Given the description of an element on the screen output the (x, y) to click on. 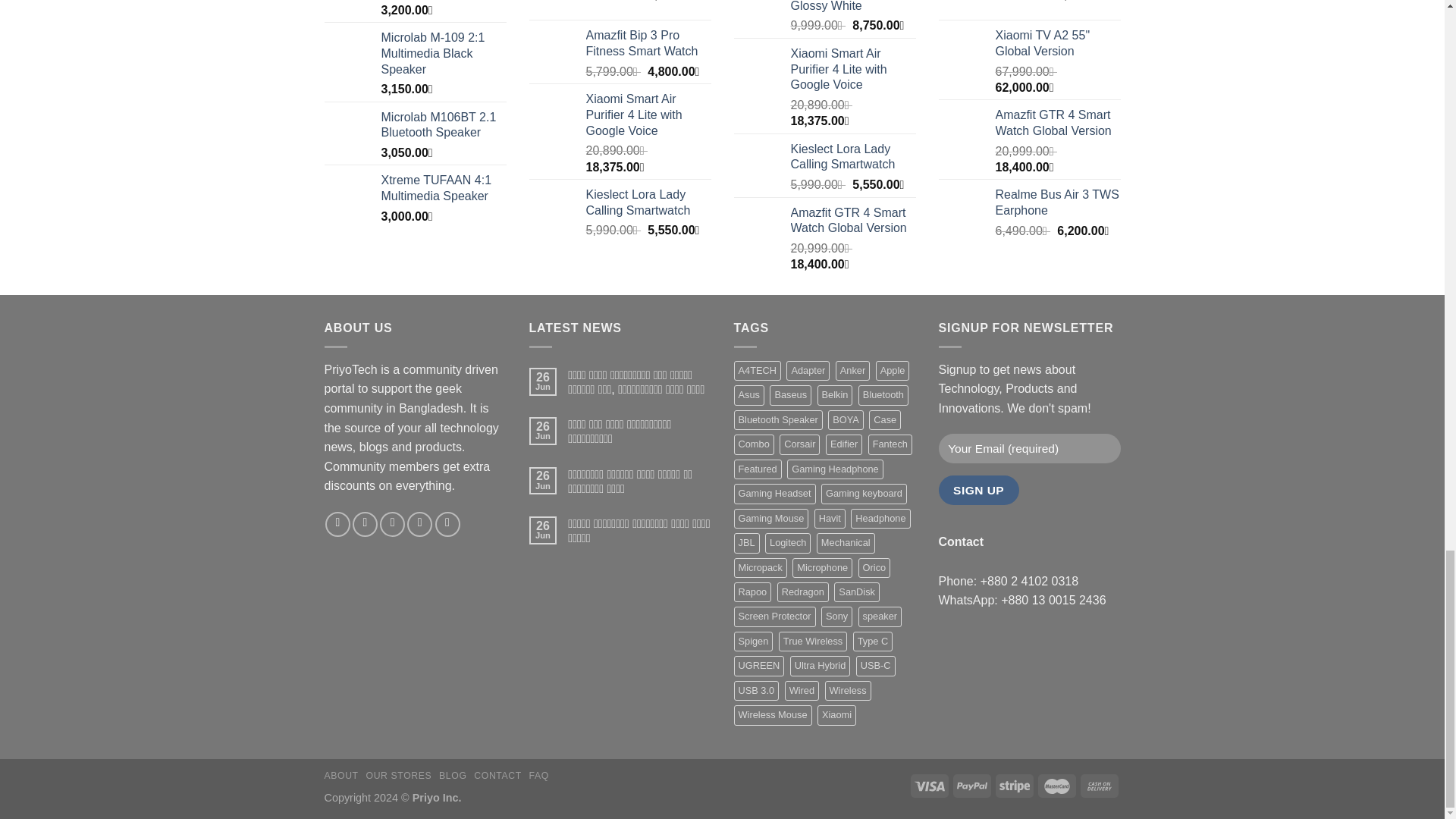
Sign Up (979, 490)
